Given the description of an element on the screen output the (x, y) to click on. 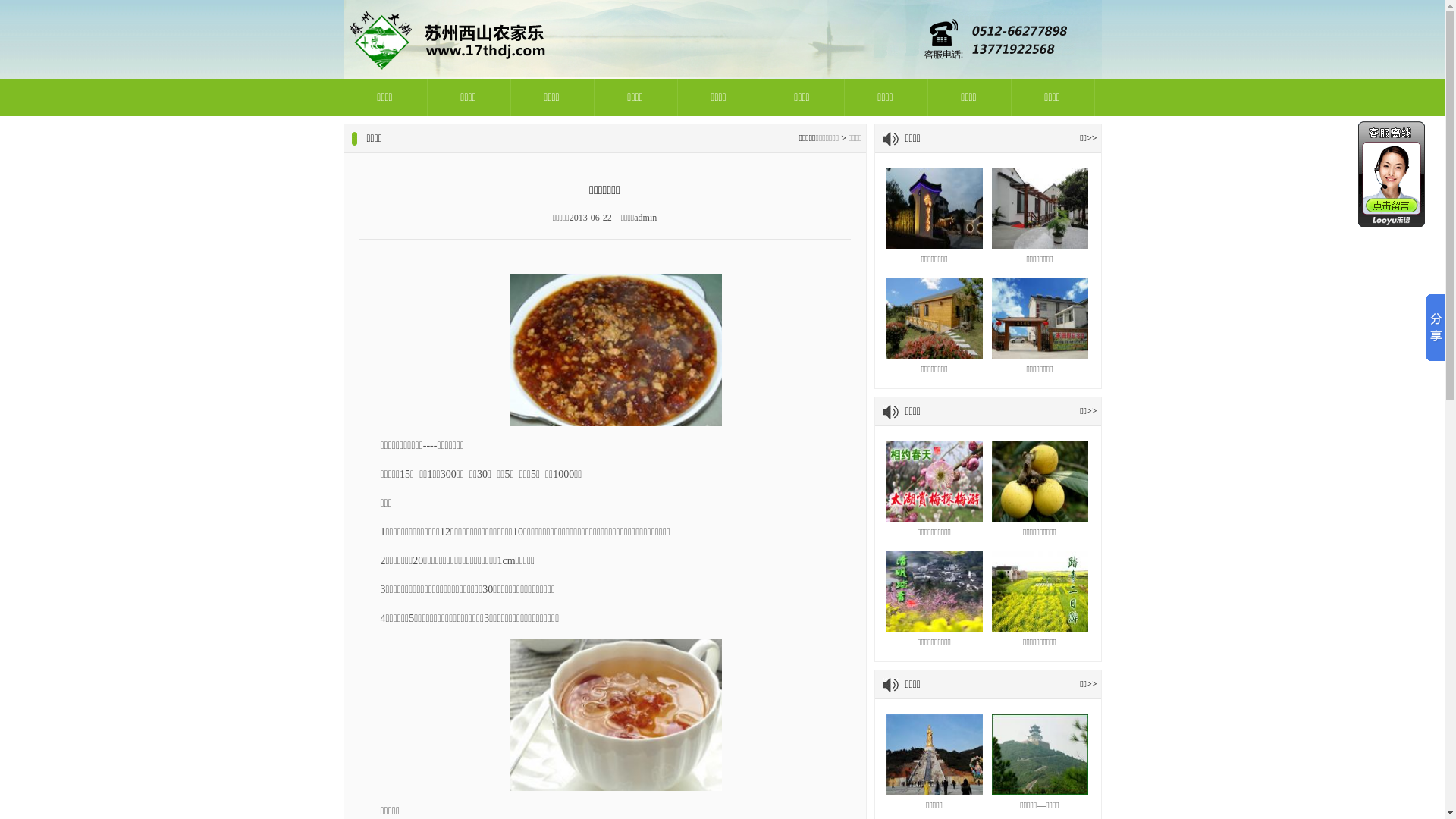
  Element type: text (1391, 173)
